Given the description of an element on the screen output the (x, y) to click on. 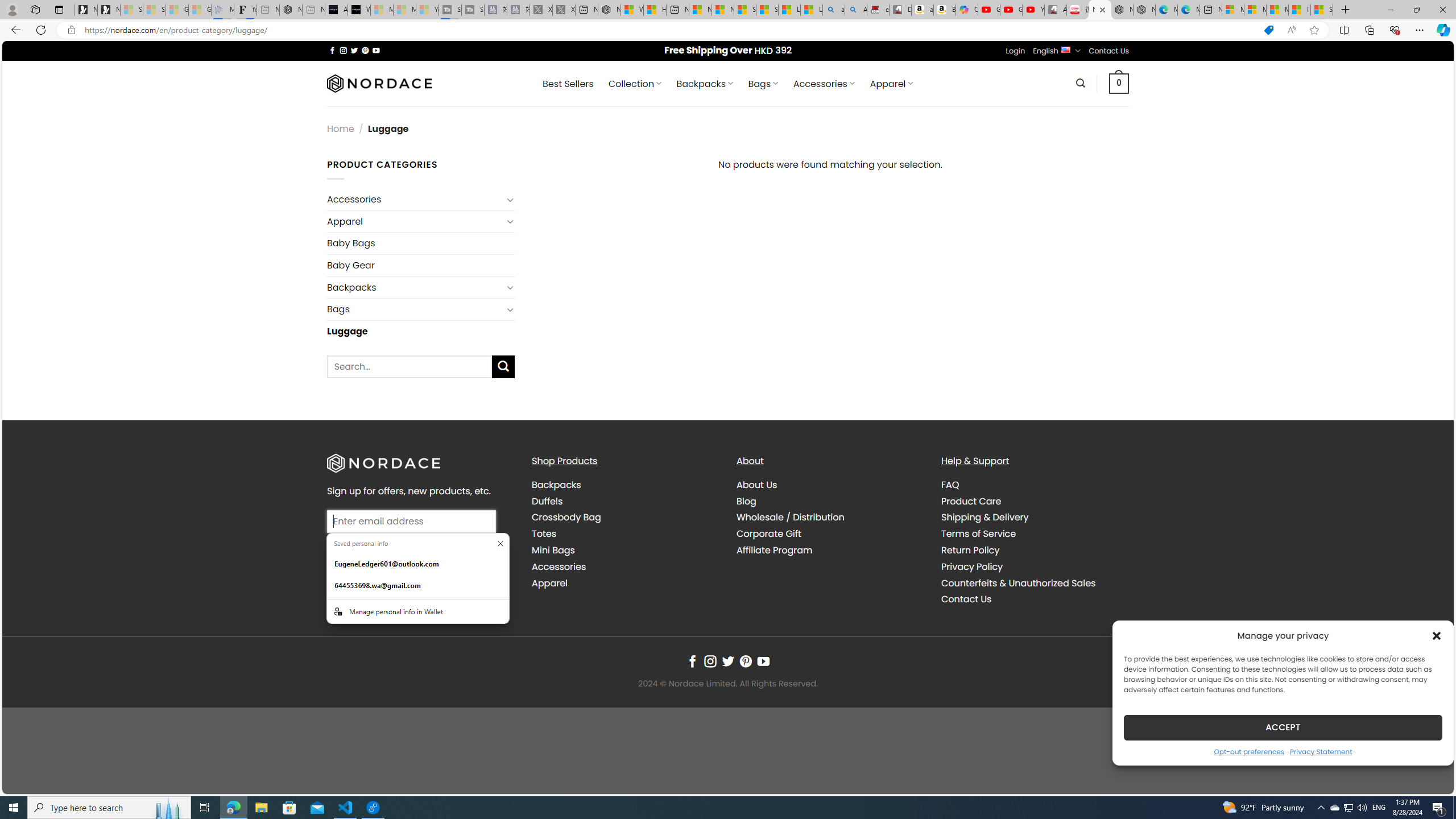
Mini Bags (625, 549)
 Best Sellers (568, 83)
About Us (756, 484)
Add this page to favorites (Ctrl+D) (1314, 29)
Product Care (970, 500)
Nordace - Nordace has arrived Hong Kong (1144, 9)
Accessories (558, 566)
Huge shark washes ashore at New York City beach | Watch (655, 9)
Login (1015, 50)
